Given the description of an element on the screen output the (x, y) to click on. 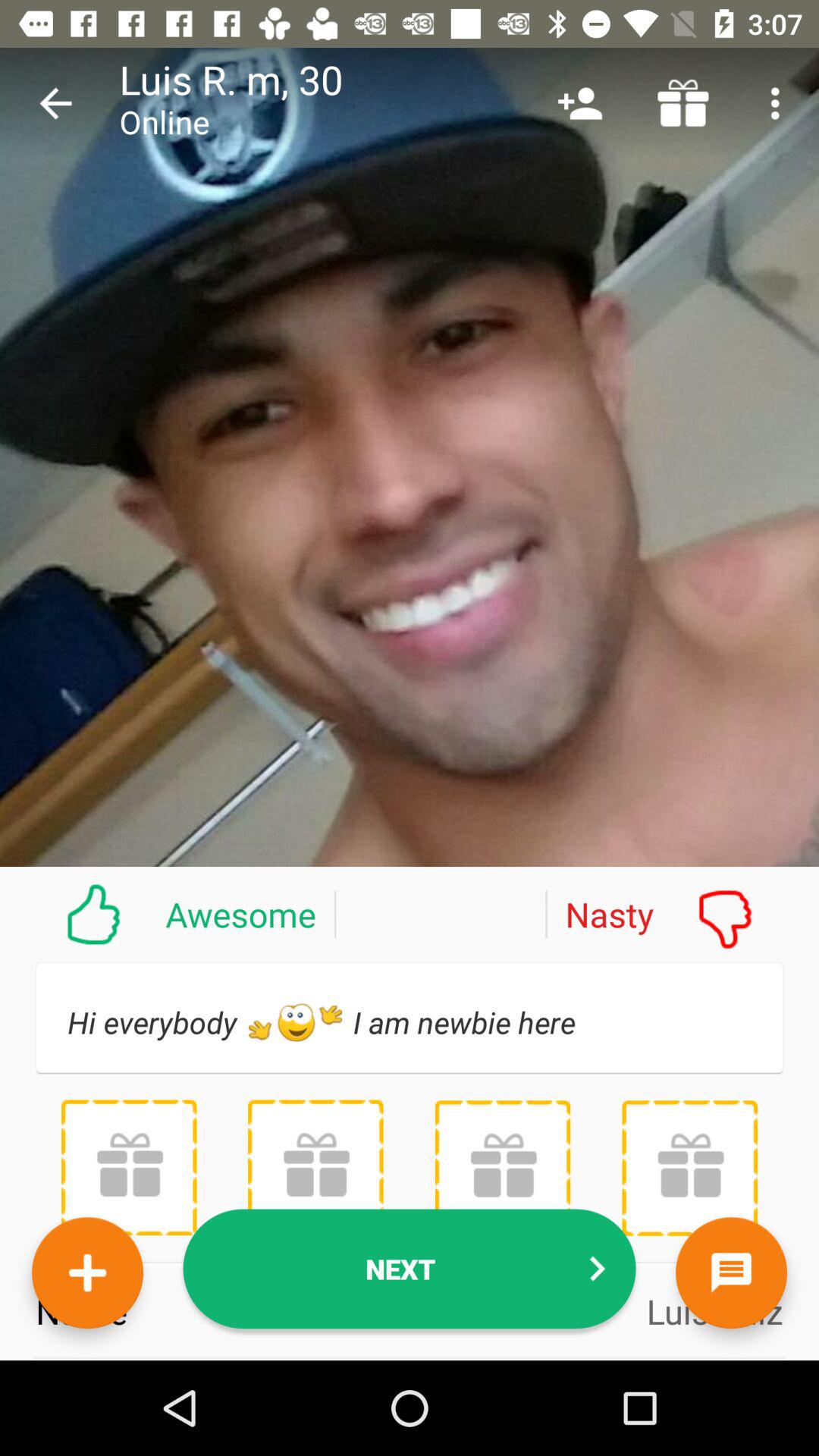
press the icon above name (502, 1167)
